Given the description of an element on the screen output the (x, y) to click on. 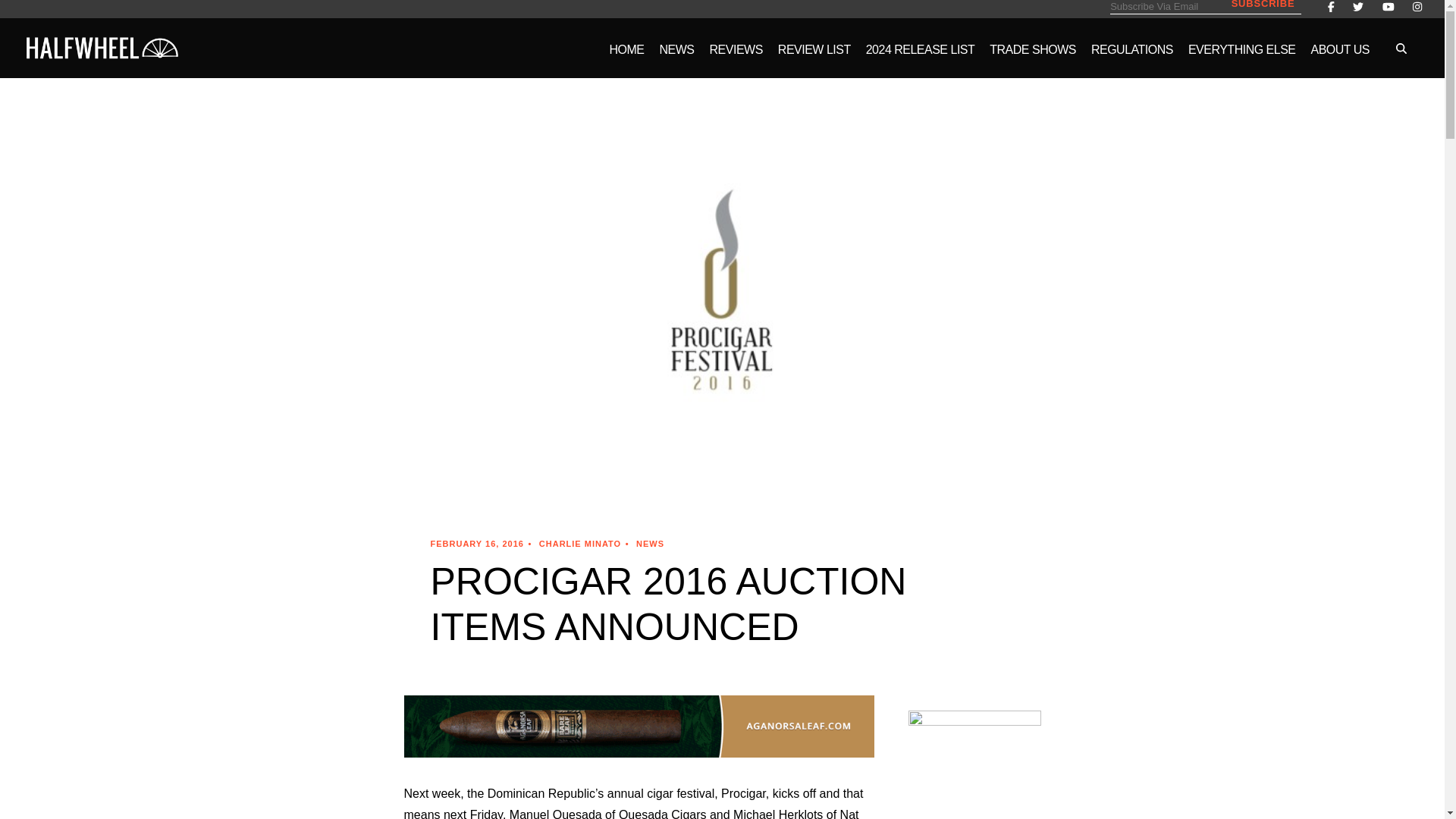
SUBSCRIBE (1262, 4)
NEWS (676, 59)
HOME (627, 59)
SUBSCRIBE (1262, 4)
REVIEWS (736, 59)
halfwheelwide1-KO (101, 47)
youtube (1387, 7)
